Given the description of an element on the screen output the (x, y) to click on. 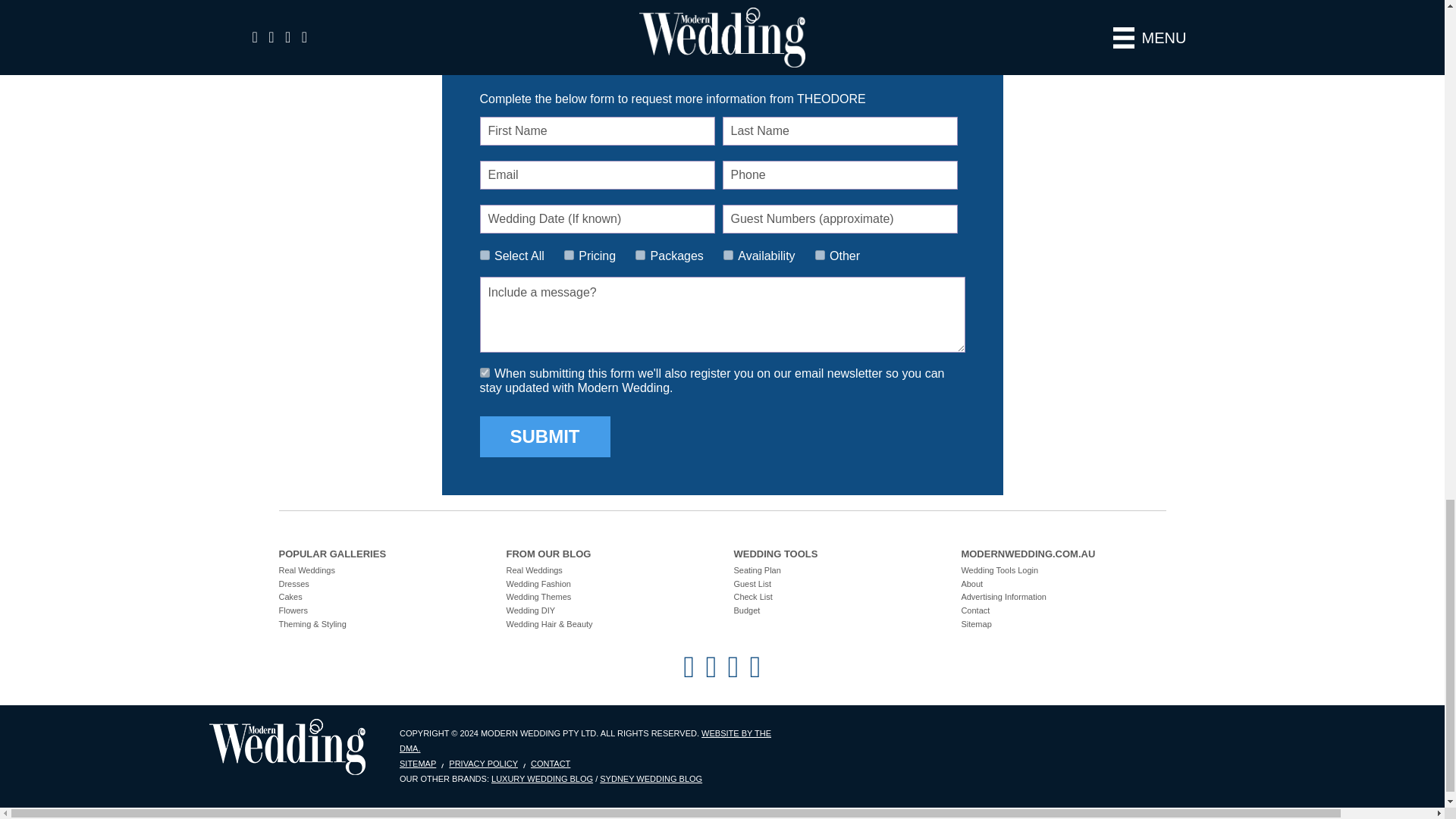
Other (820, 255)
on (484, 255)
Availability (728, 255)
Packages (639, 255)
Submit (544, 436)
Pricing (568, 255)
